Given the description of an element on the screen output the (x, y) to click on. 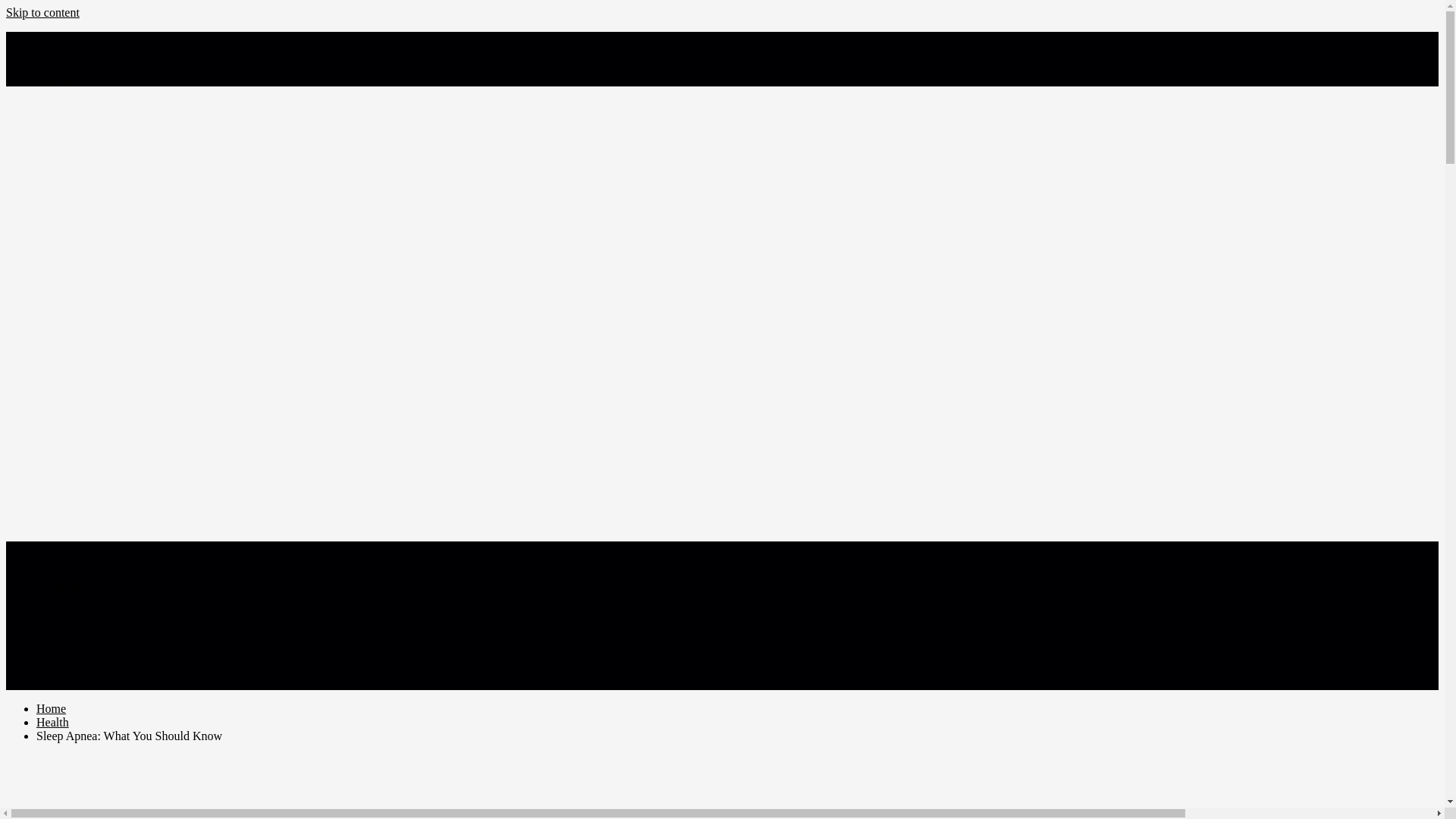
Education (60, 573)
Health (52, 614)
Sport (49, 682)
Health (52, 721)
Privacy Policy (71, 65)
Sign Up (56, 78)
Technology (64, 600)
Entertainment (70, 668)
Lifestyle (58, 641)
About Us (59, 51)
